Given the description of an element on the screen output the (x, y) to click on. 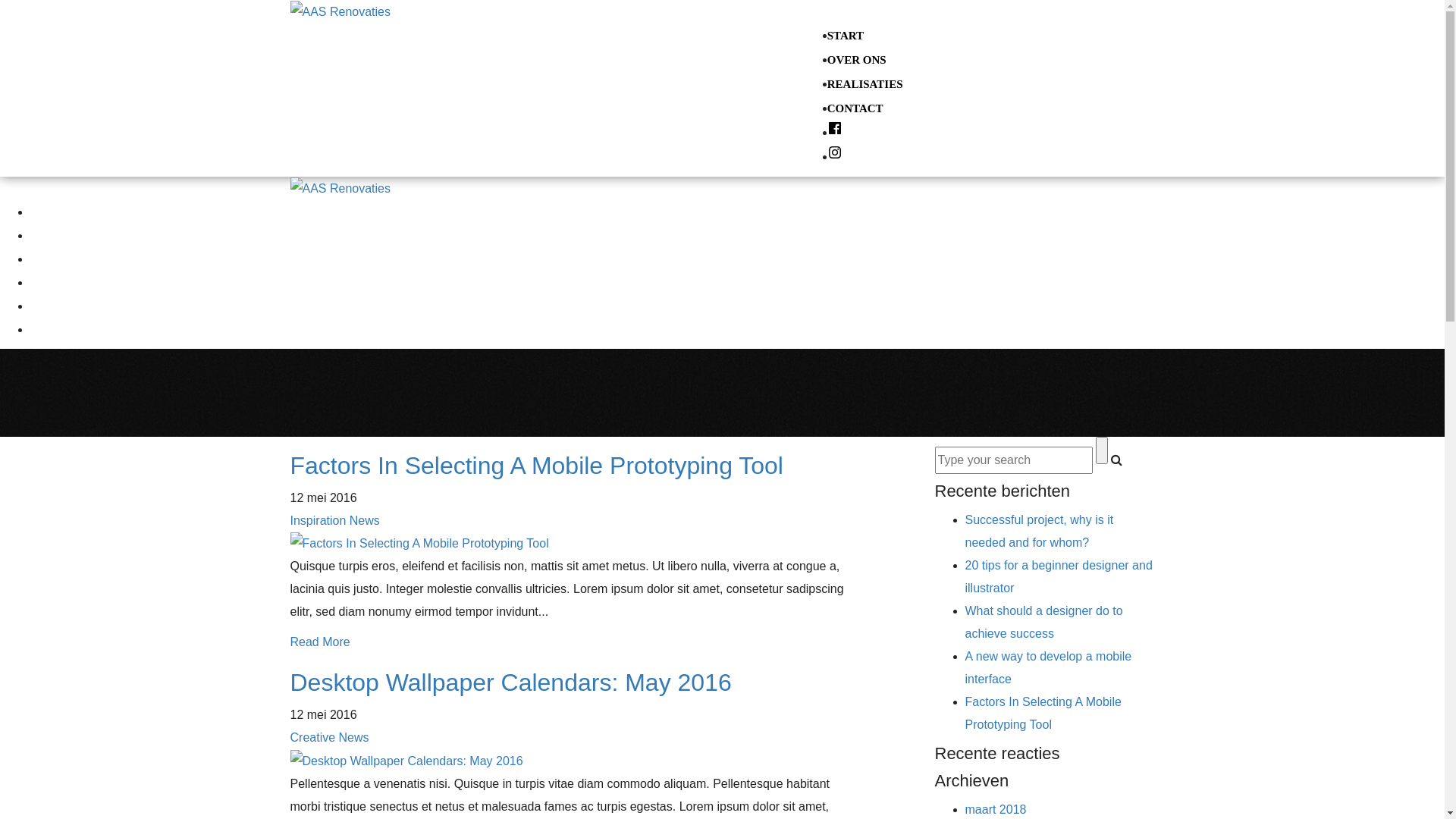
Over ons Element type: text (51, 234)
CONTACT Element type: text (855, 108)
REALISATIES Element type: text (865, 84)
title="Instagram" Element type: hover (834, 156)
OVER ONS Element type: text (856, 59)
News Element type: text (353, 737)
20 tips for a beginner designer and illustrator Element type: text (1057, 576)
A new way to develop a mobile interface Element type: text (1047, 667)
Factors In Selecting A Mobile Prototyping Tool Element type: text (535, 465)
title="Facebook" Element type: hover (834, 132)
News Element type: text (364, 520)
Realisaties Element type: text (55, 258)
Creative Element type: text (312, 737)
Successful project, why is it needed and for whom? Element type: text (1038, 531)
Read More Element type: text (319, 641)
maart 2018 Element type: text (995, 809)
Inspiration Element type: text (317, 520)
What should a designer do to achieve success Element type: text (1043, 622)
Facebook Element type: hover (37, 305)
Contact Element type: text (48, 281)
Desktop Wallpaper Calendars: May 2016 Element type: text (510, 682)
Factors In Selecting A Mobile Prototyping Tool Element type: text (1042, 713)
Instagram Element type: hover (37, 328)
START Element type: text (845, 35)
Start Element type: text (41, 211)
